Given the description of an element on the screen output the (x, y) to click on. 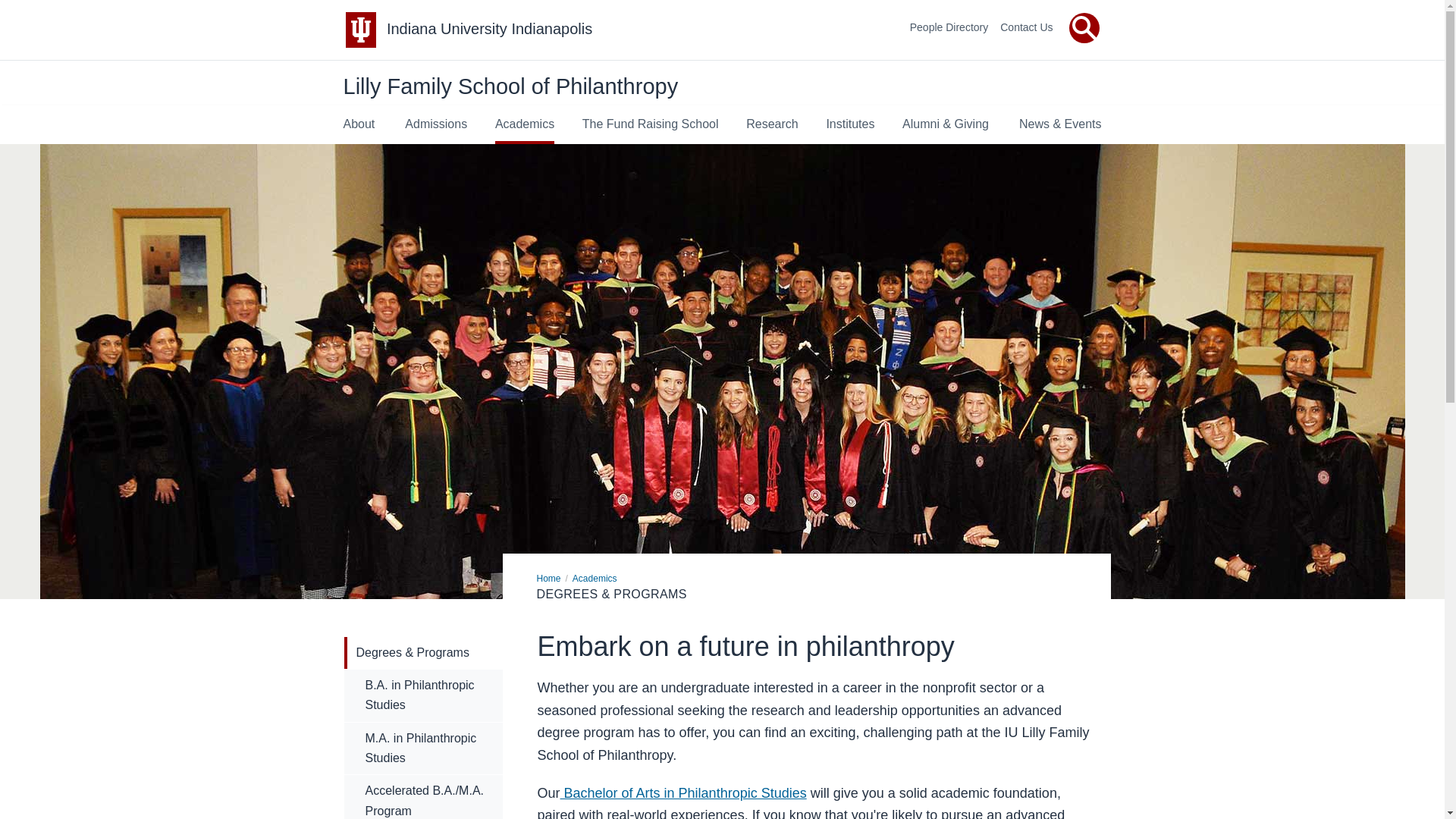
Indiana University Indianapolis (489, 28)
Indiana University Indianapolis (489, 28)
